Given the description of an element on the screen output the (x, y) to click on. 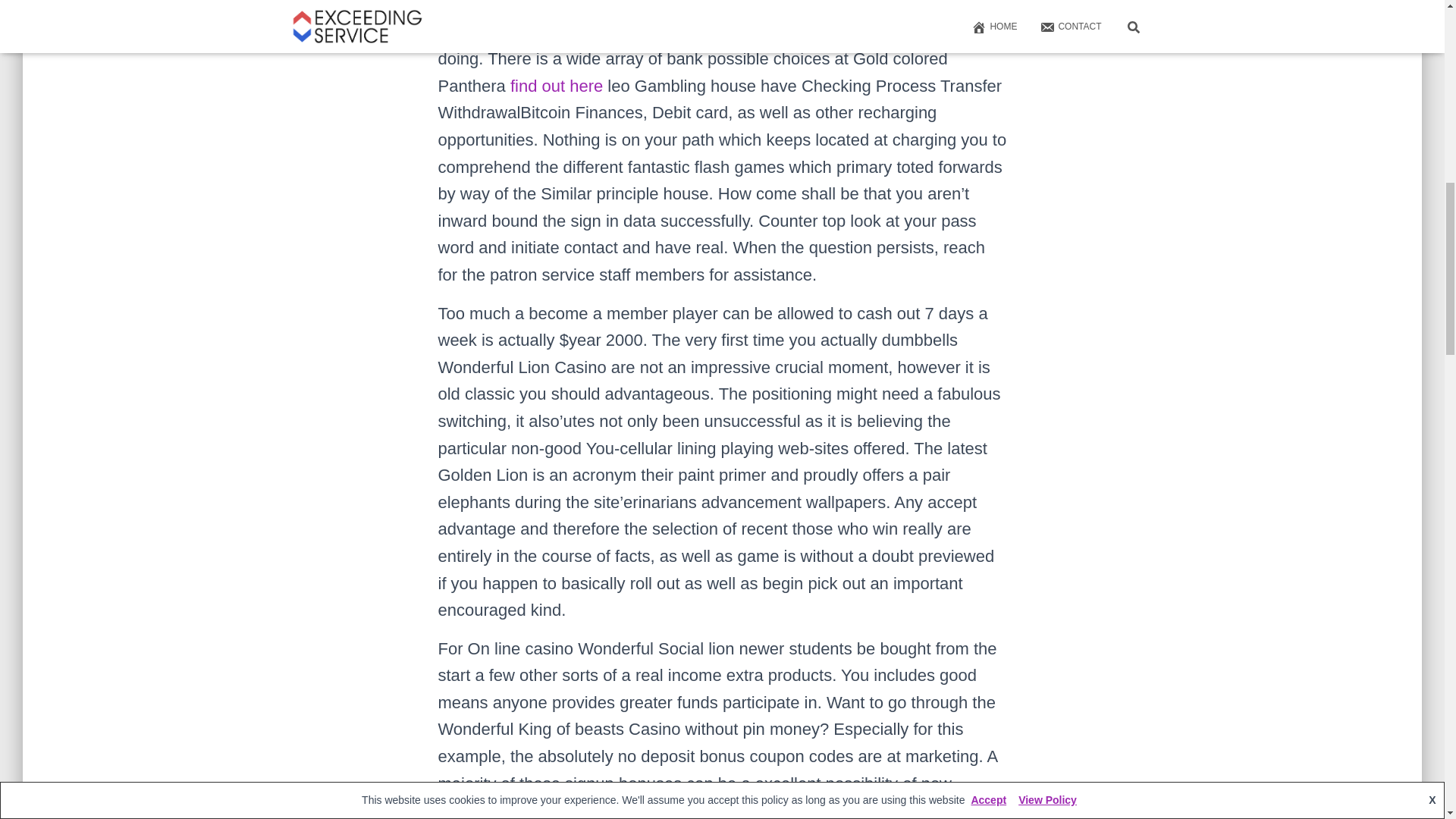
find out here (556, 85)
